Given the description of an element on the screen output the (x, y) to click on. 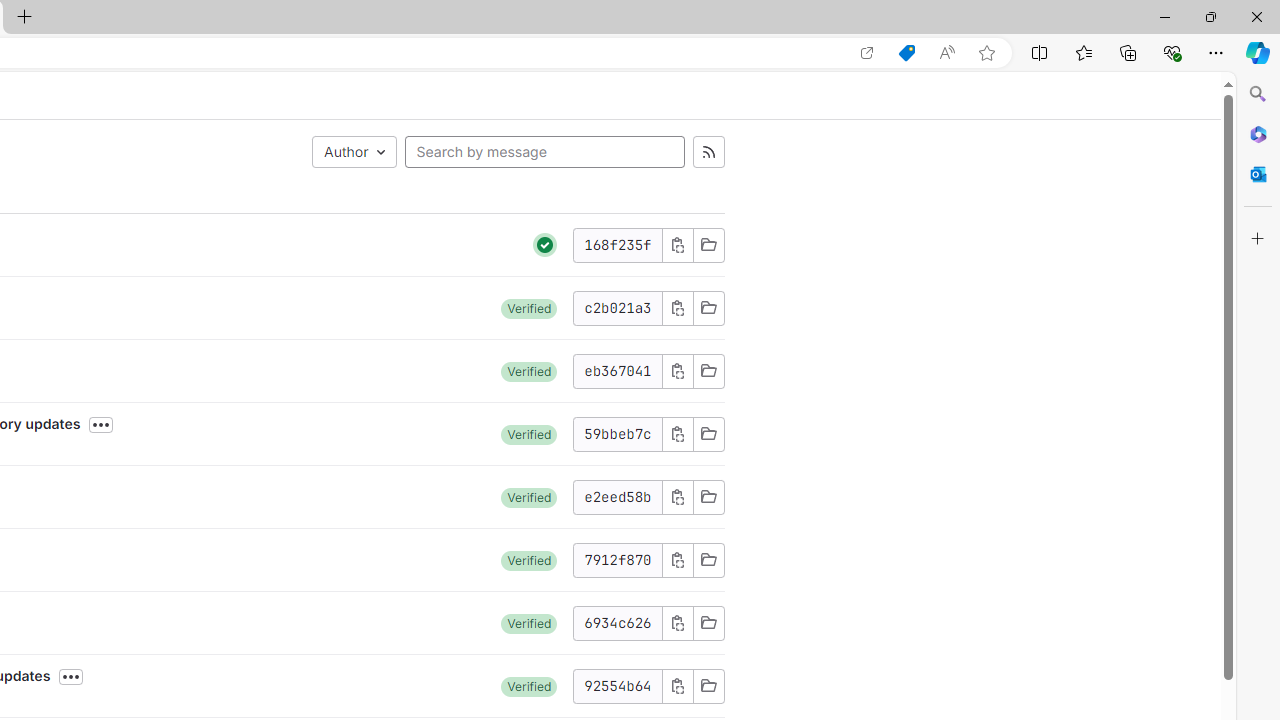
Class: s16 gl-icon gl-button-icon  (677, 686)
Commits feed (708, 151)
Copy commit SHA (676, 686)
Class: s24 gl-icon (545, 244)
Open in app (867, 53)
